Given the description of an element on the screen output the (x, y) to click on. 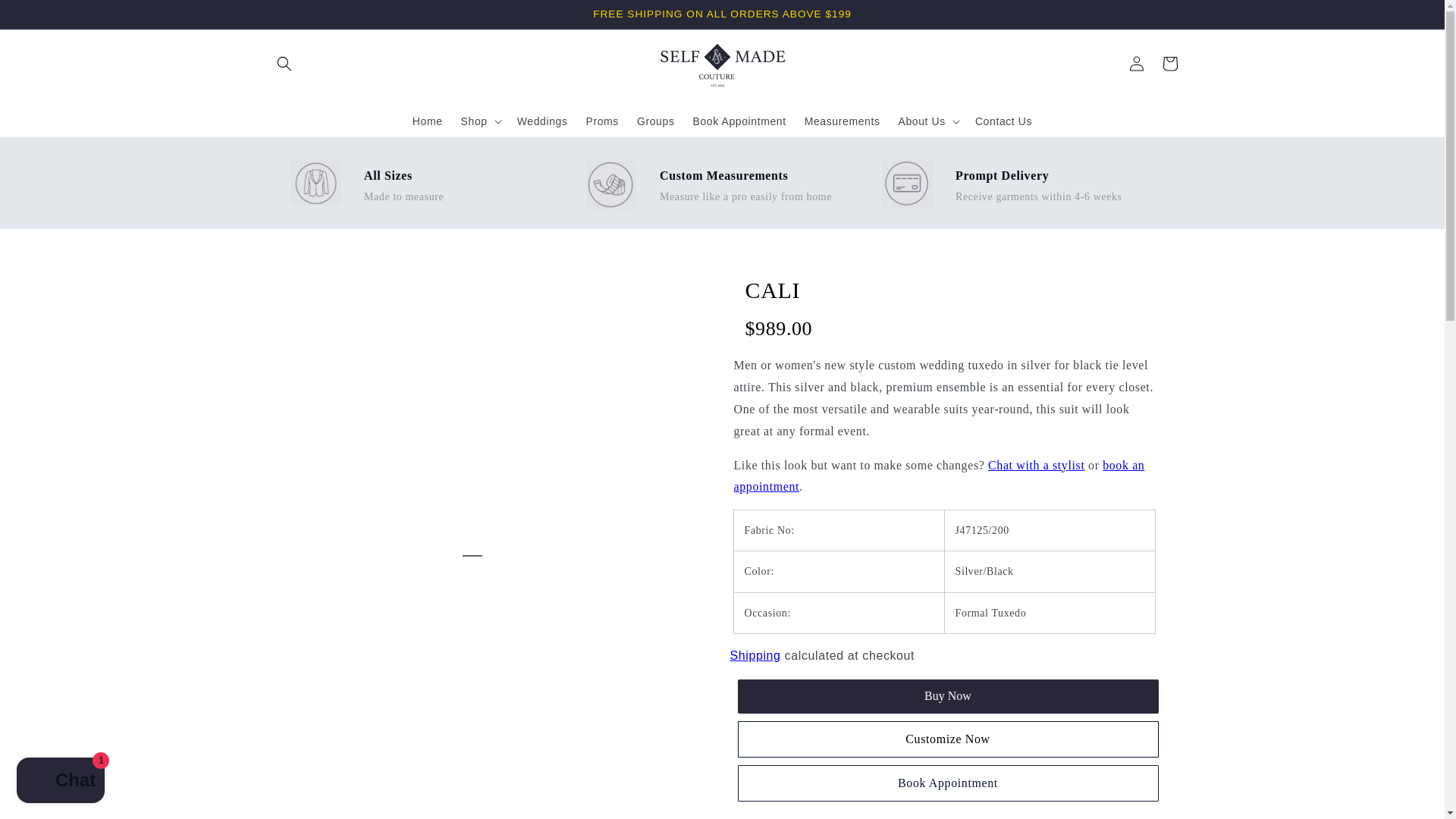
Shopify online store chat (60, 781)
Home (427, 121)
Skip to content (45, 17)
